Given the description of an element on the screen output the (x, y) to click on. 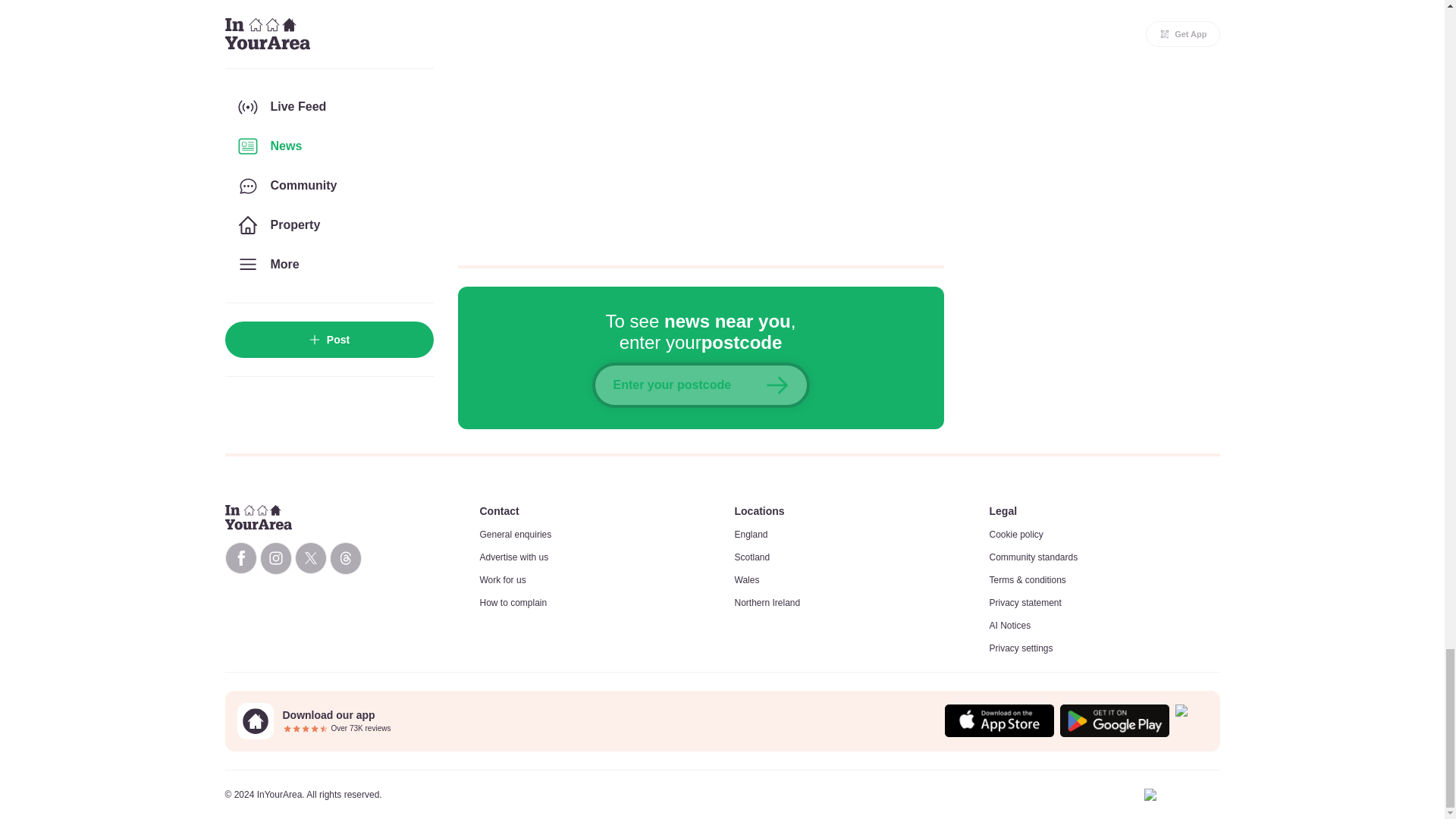
InYourArea Threads (345, 558)
InYourArea X (310, 558)
InYourArea Facebook (240, 558)
comments (701, 122)
InYourArea Instagram (275, 558)
